Given the description of an element on the screen output the (x, y) to click on. 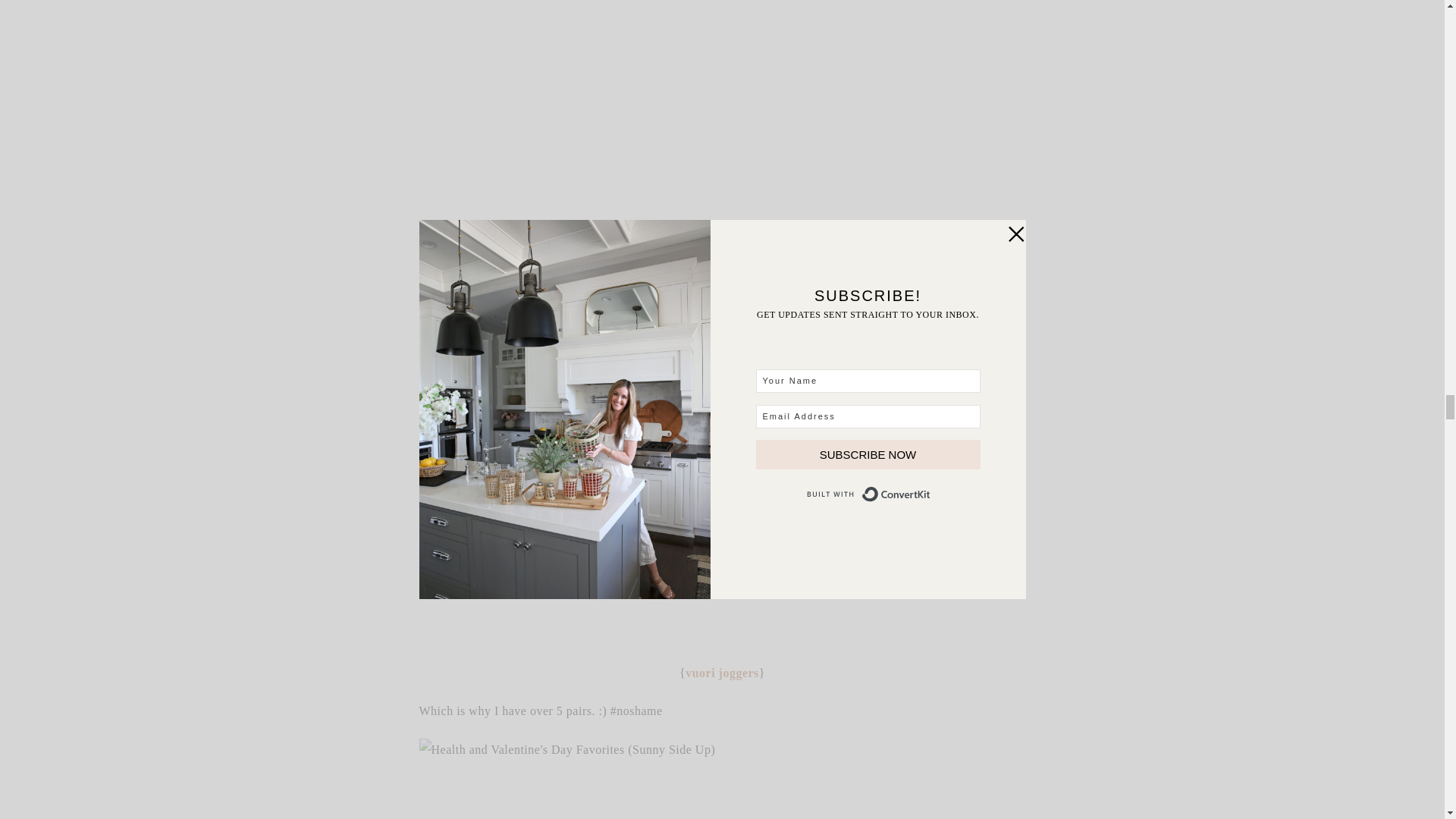
vuori joggers (721, 672)
